Given the description of an element on the screen output the (x, y) to click on. 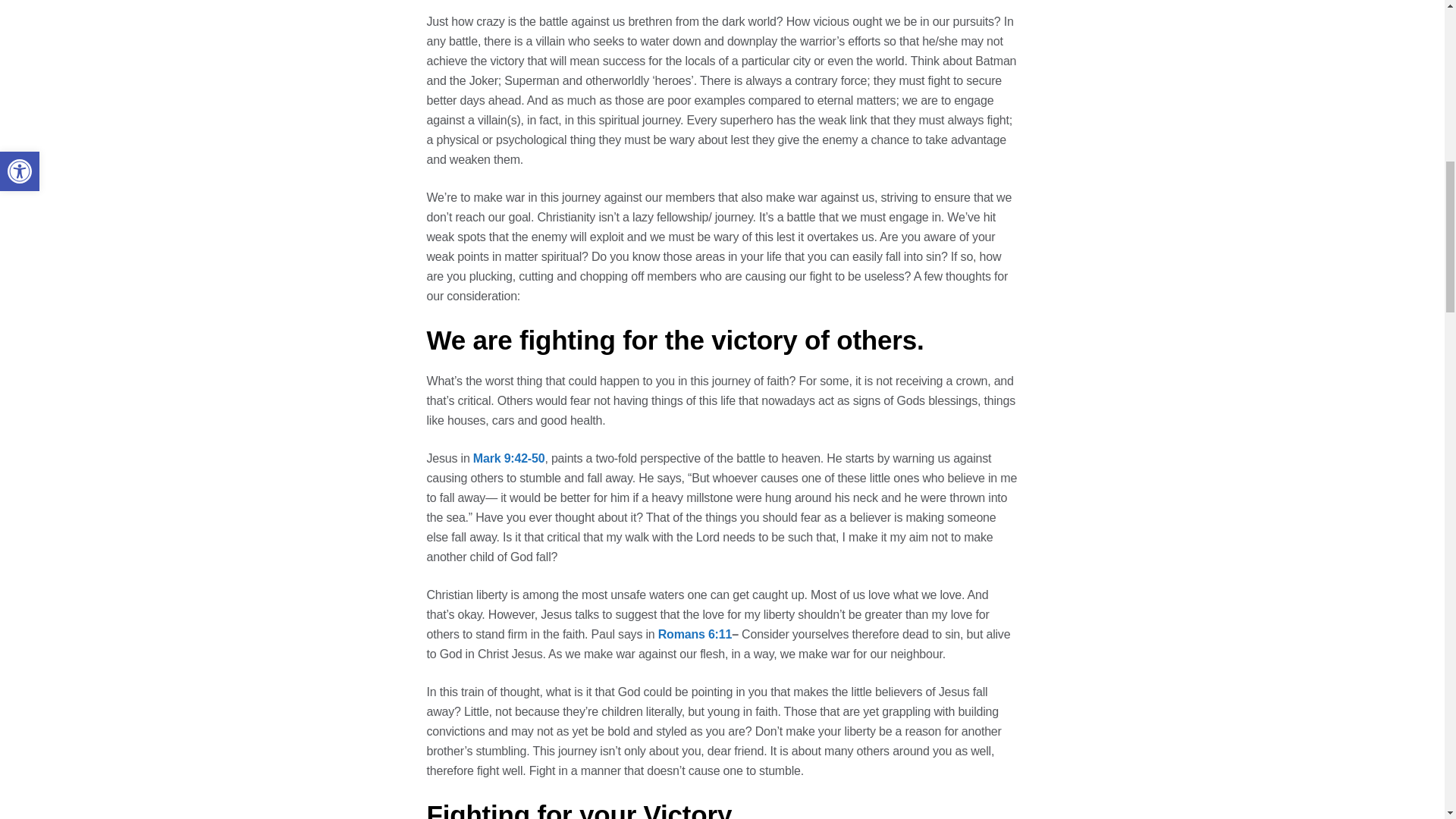
Mark 9:42-50 (508, 458)
Romans 6:11 (695, 634)
